Given the description of an element on the screen output the (x, y) to click on. 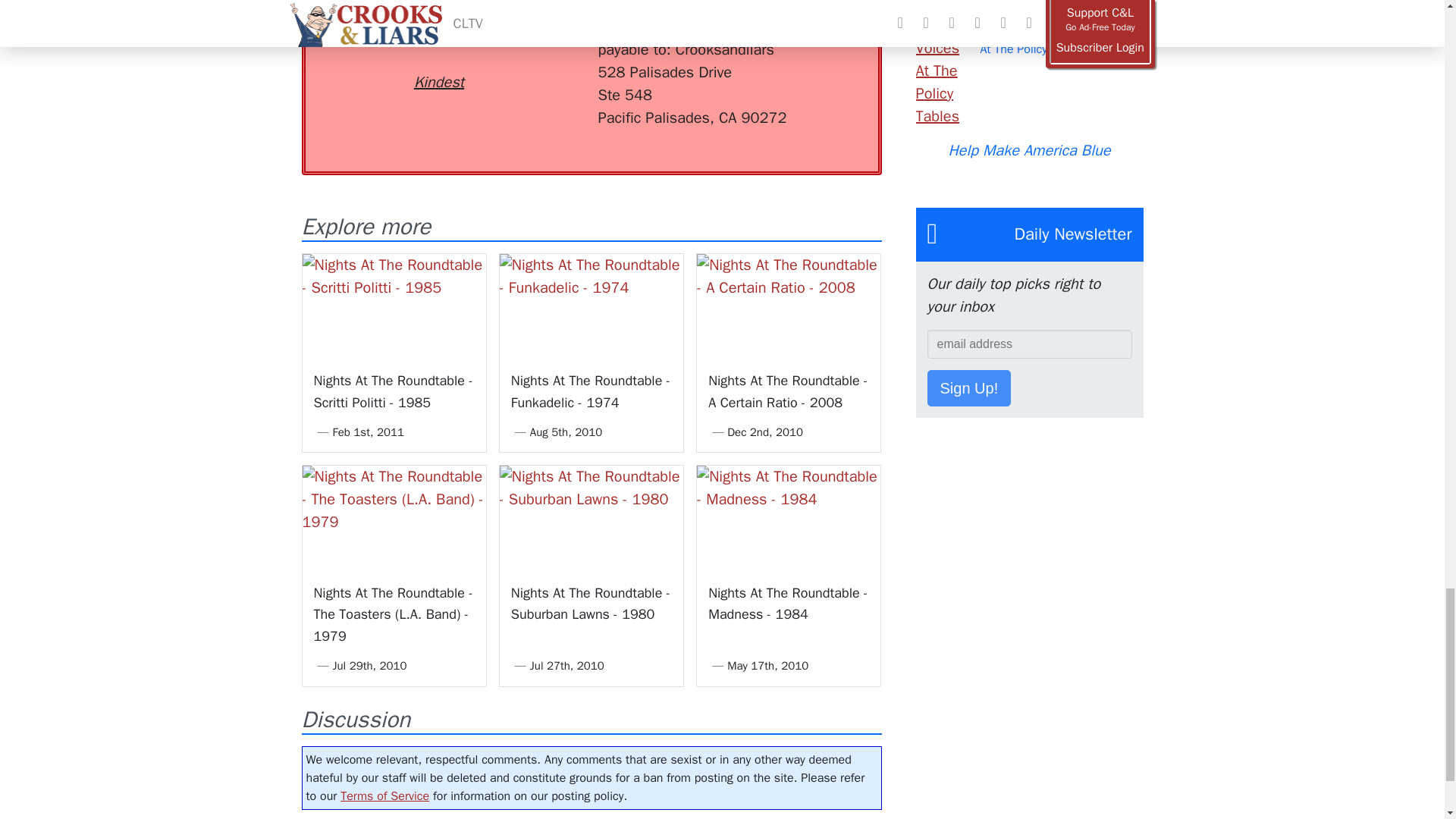
Donate via Kindest (438, 54)
Nights At The Roundtable - Scritti Politti - 1985 (393, 391)
Donate via PayPal (540, 43)
Nights At The Roundtable - Scritti Politti - 1985 (392, 305)
